Given the description of an element on the screen output the (x, y) to click on. 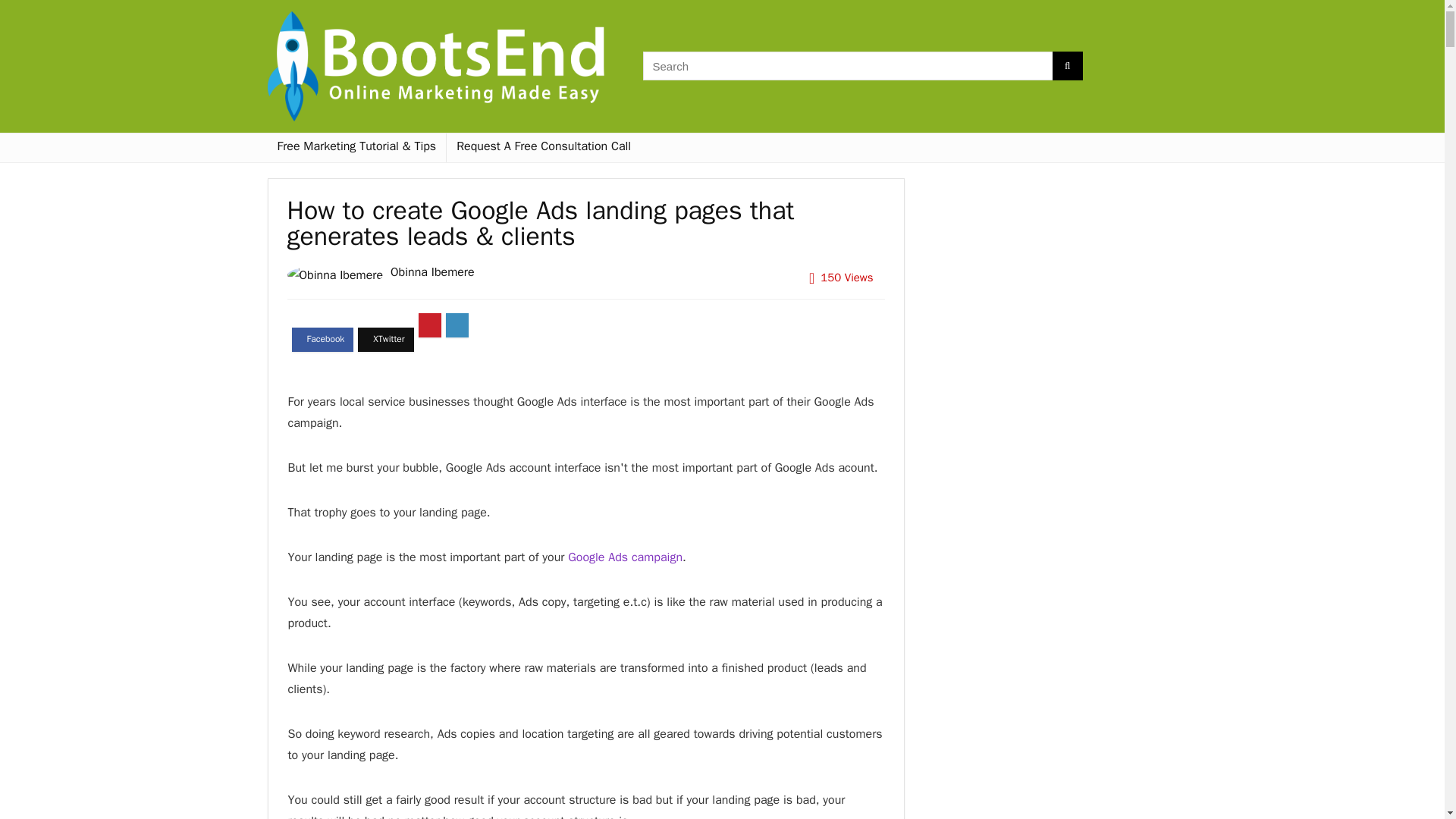
Obinna Ibemere (432, 272)
Google Ads campaign (624, 557)
Request A Free Consultation Call (543, 147)
